Given the description of an element on the screen output the (x, y) to click on. 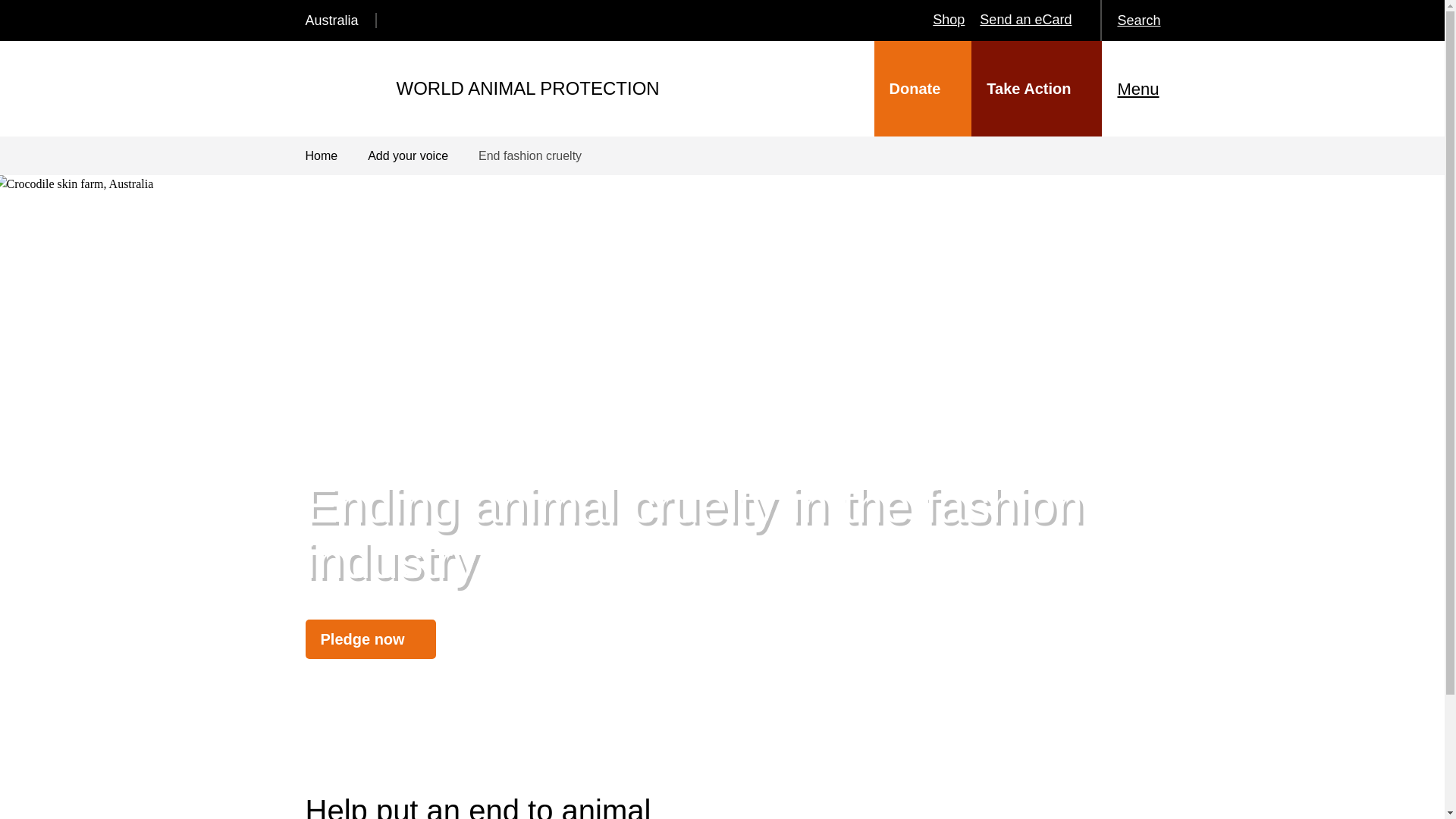
Donate once (923, 88)
Take Action (1036, 88)
WORLD ANIMAL PROTECTION (481, 88)
Search (1154, 20)
Send an eCard (1025, 20)
Shop (948, 20)
Send an eCard (1025, 20)
Take Action (1036, 88)
Shop (948, 20)
Menu (1154, 88)
